Given the description of an element on the screen output the (x, y) to click on. 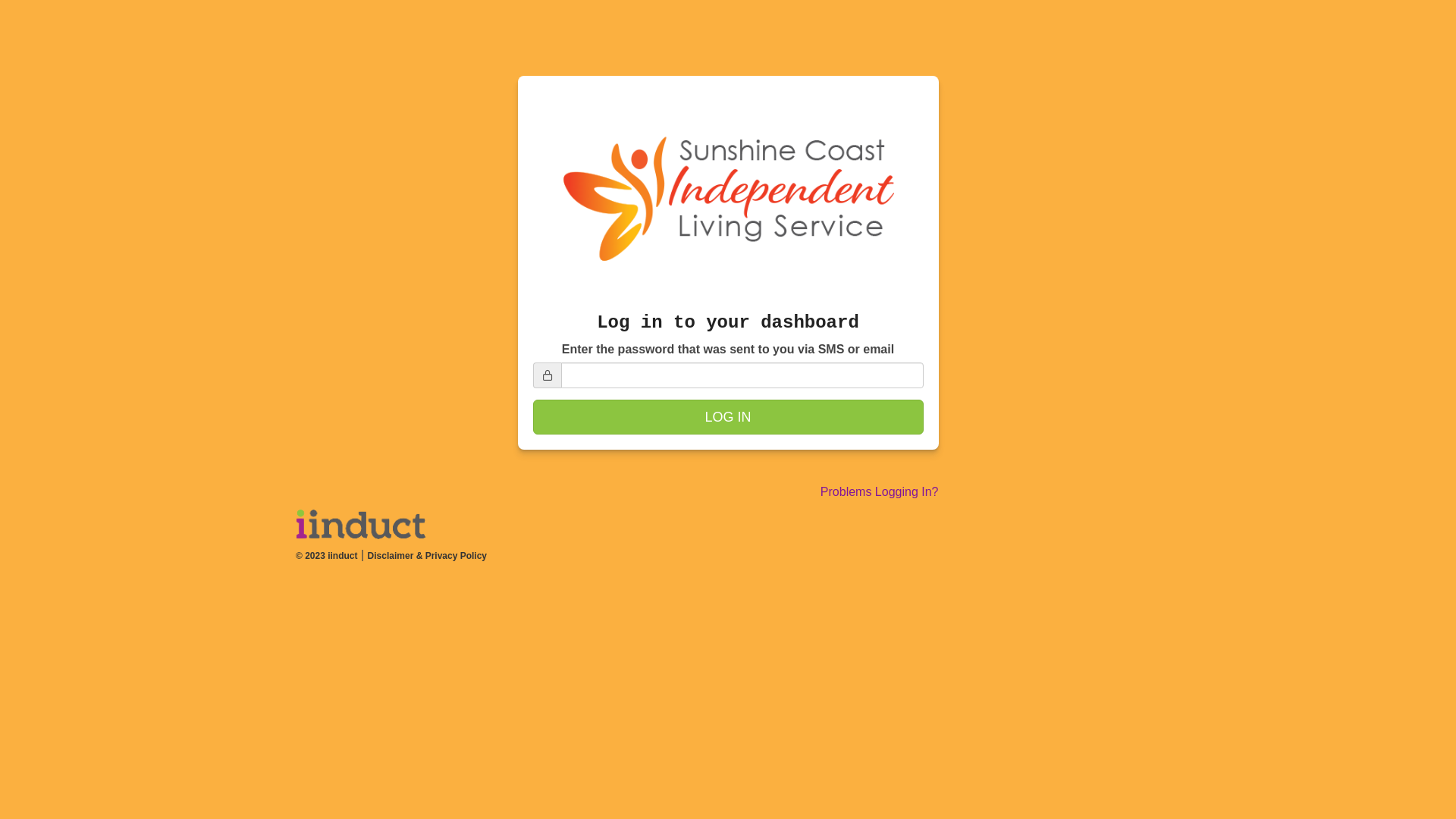
Problems Logging In? Element type: text (879, 491)
Disclaimer & Privacy Policy Element type: text (426, 555)
LOG IN Element type: text (727, 416)
